Given the description of an element on the screen output the (x, y) to click on. 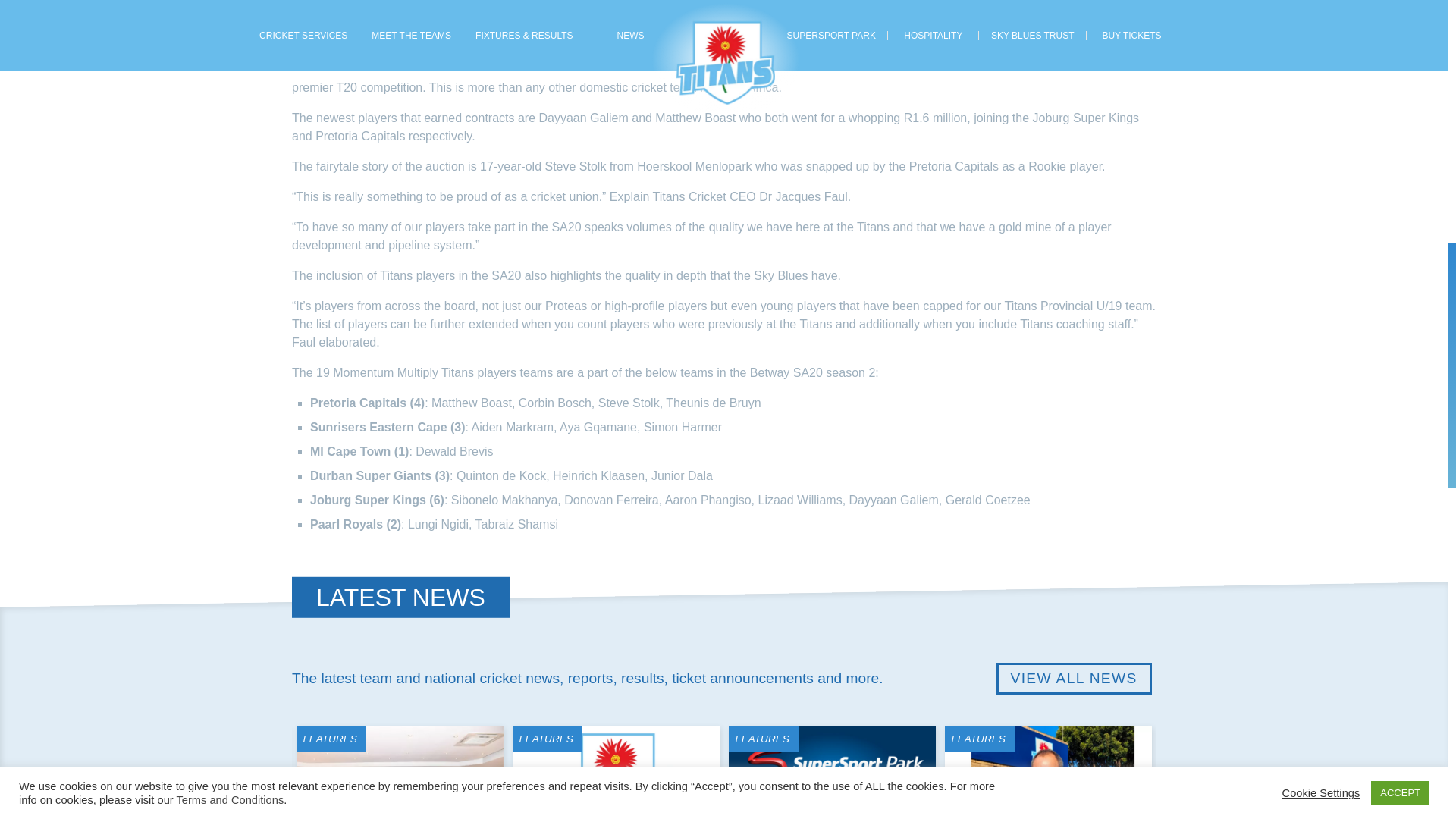
Features (761, 738)
Features (545, 738)
Features (978, 738)
VIEW ALL NEWS (1073, 678)
Features (330, 738)
